Given the description of an element on the screen output the (x, y) to click on. 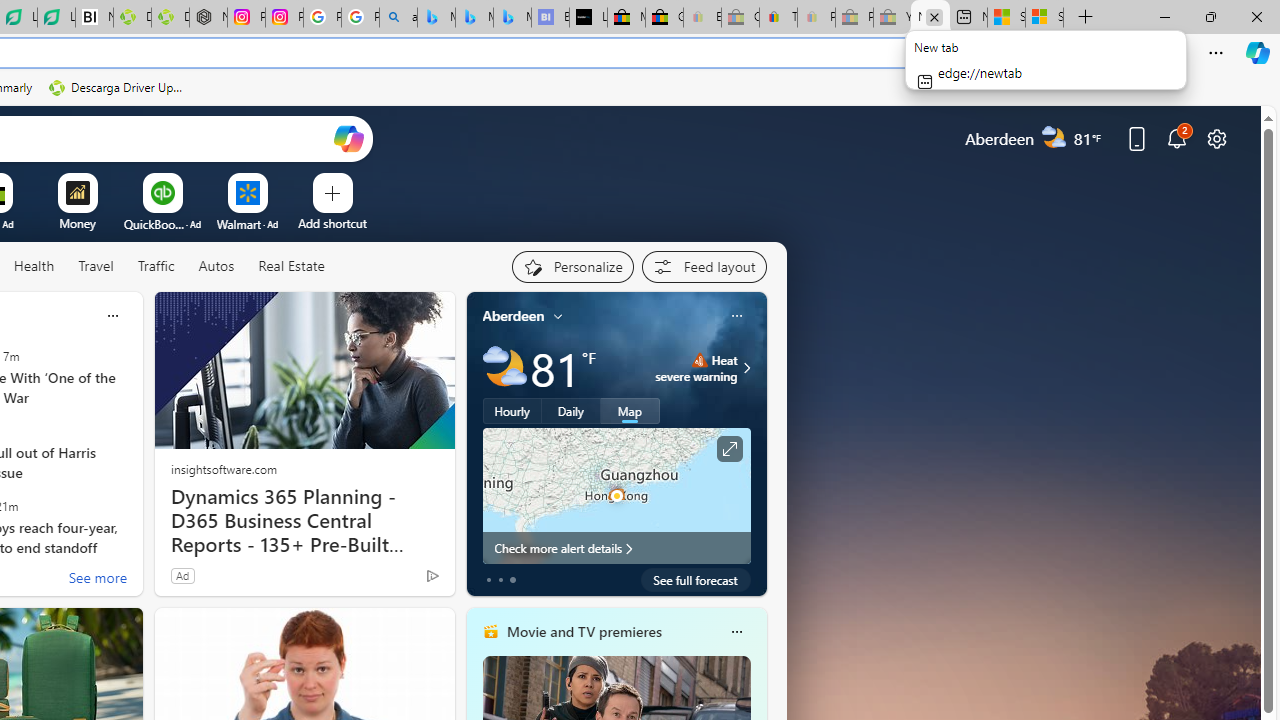
Nordace - Nordace Edin Collection (207, 17)
Threats and offensive language policy | eBay (778, 17)
Partly cloudy (504, 368)
Partly cloudy (504, 368)
Open Copilot (347, 138)
